Given the description of an element on the screen output the (x, y) to click on. 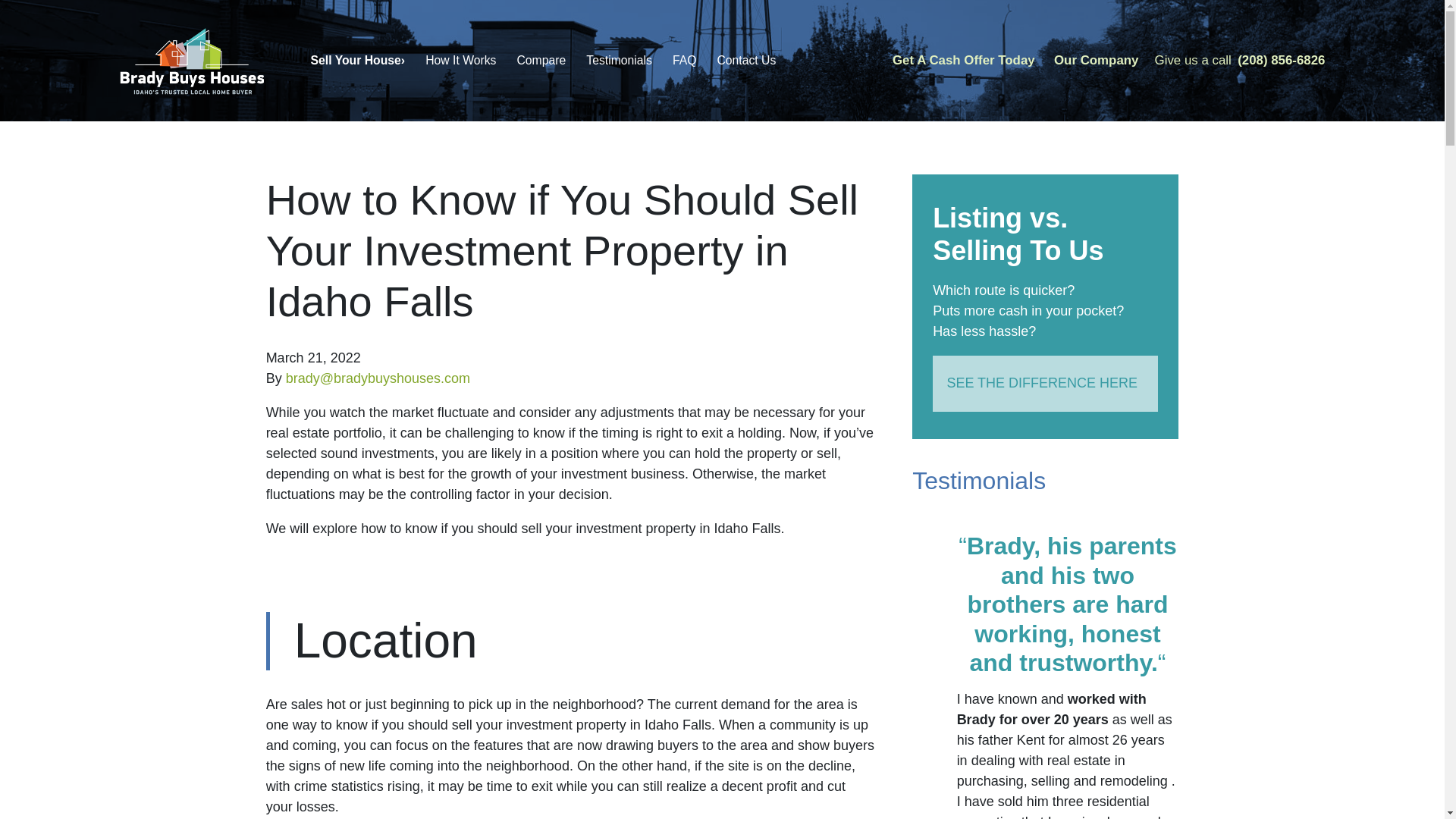
Get A Cash Offer Today (963, 60)
SEE THE DIFFERENCE HERE (1045, 383)
How It Works (460, 60)
